Given the description of an element on the screen output the (x, y) to click on. 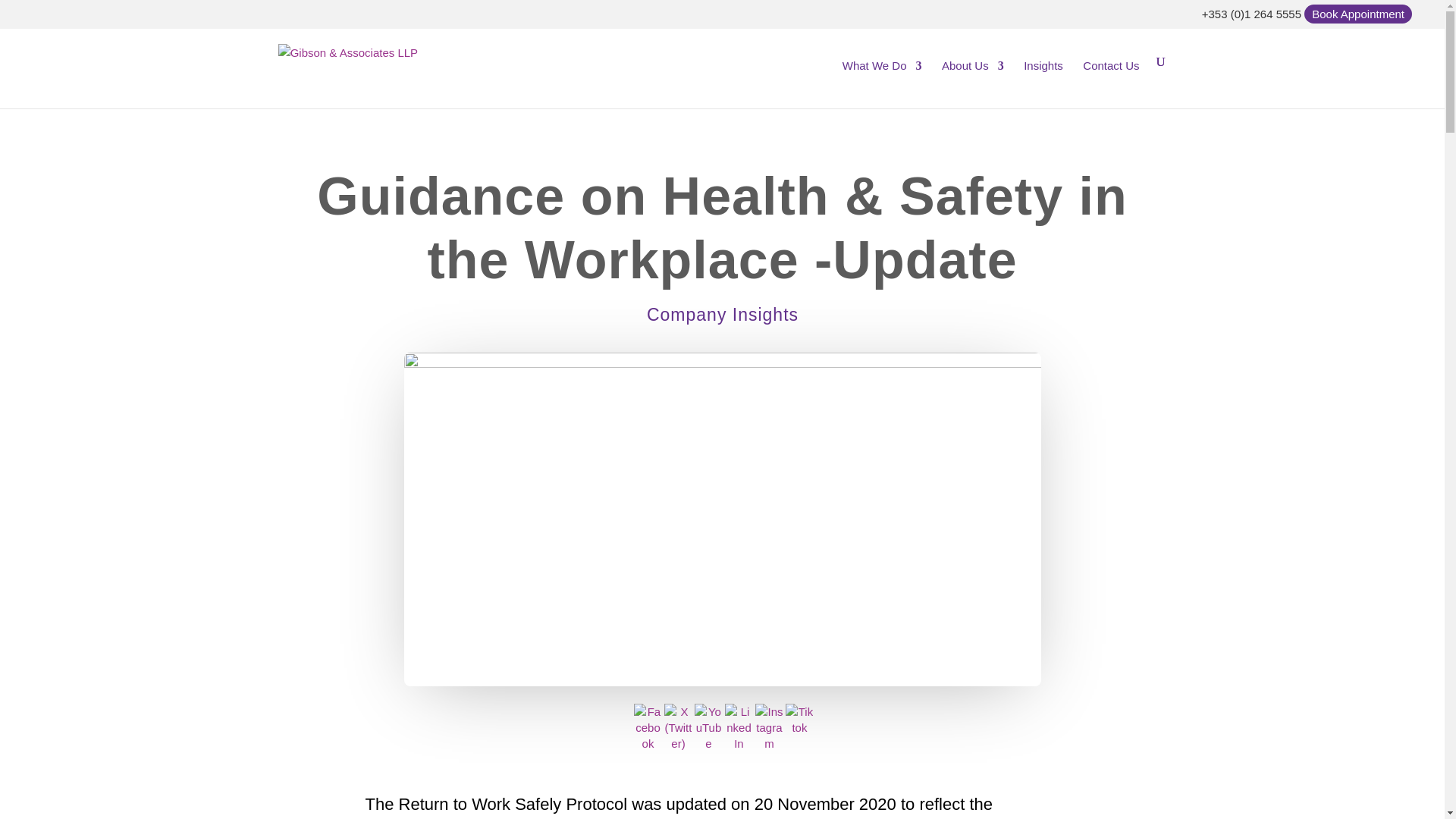
About Us (973, 77)
Book Appointment (1356, 13)
What We Do (882, 77)
